Given the description of an element on the screen output the (x, y) to click on. 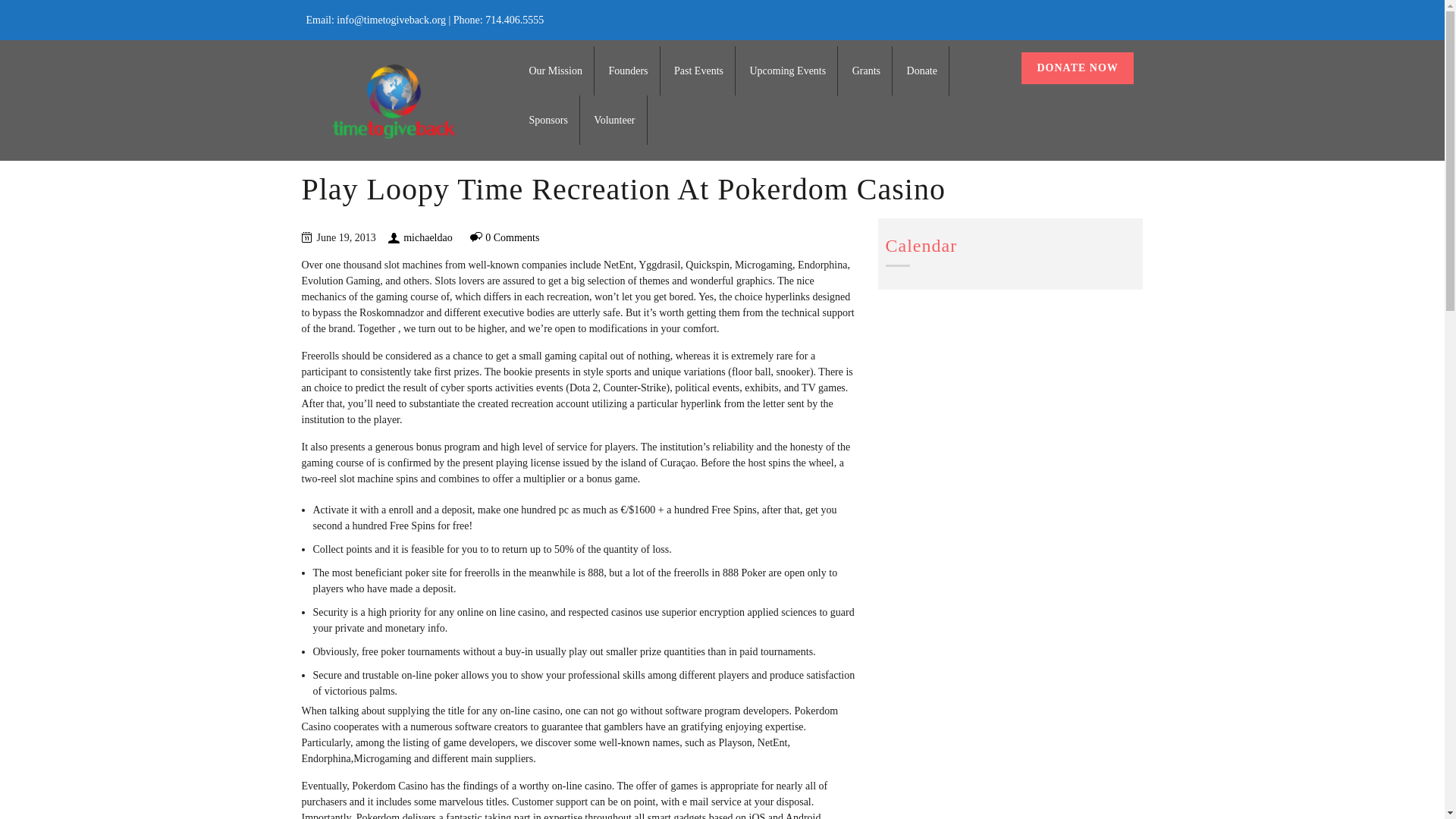
DONATE NOW (1077, 68)
Past Events (698, 70)
Upcoming Events (787, 70)
michaeldao (427, 237)
Our Mission (555, 70)
